Given the description of an element on the screen output the (x, y) to click on. 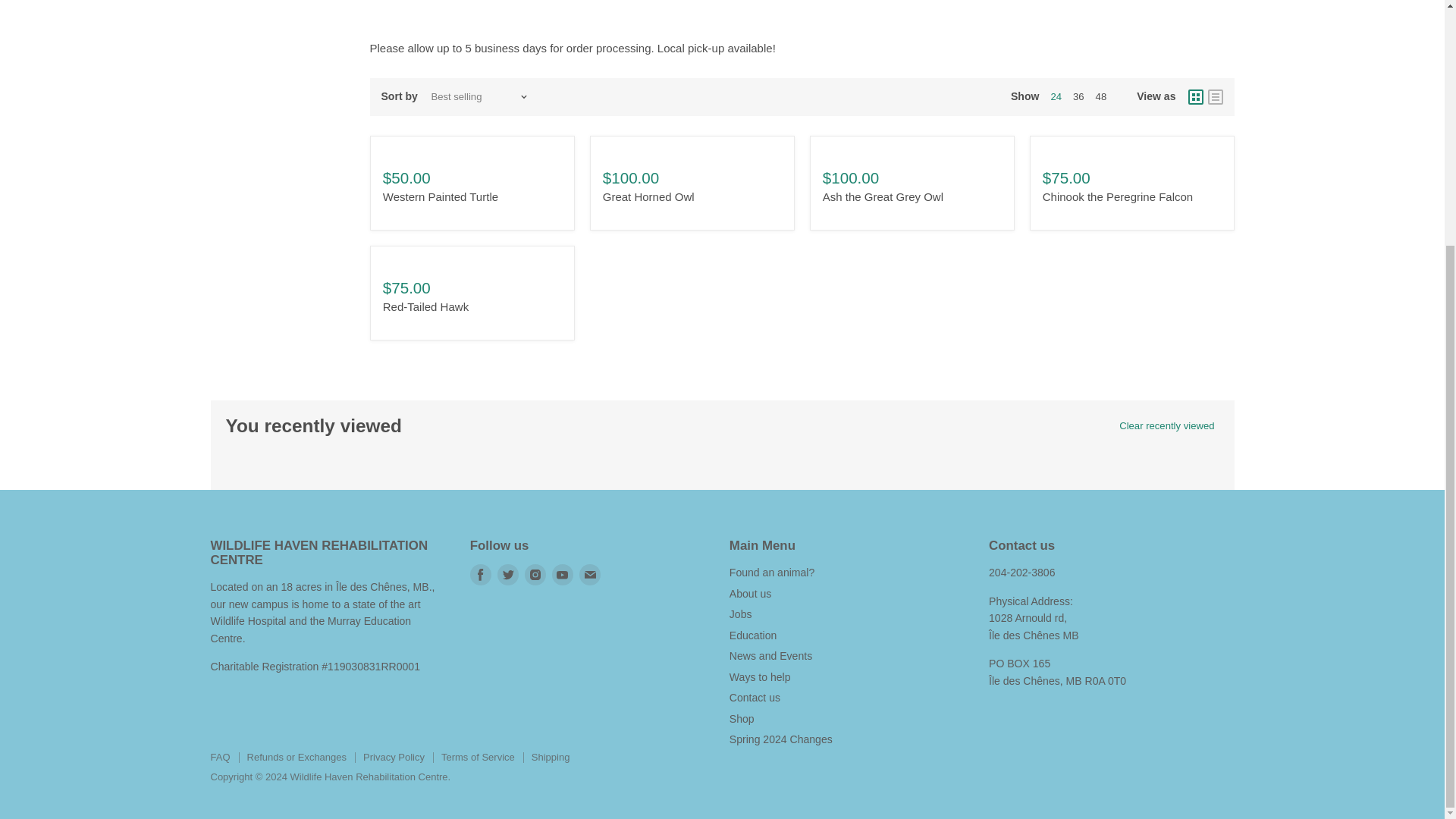
Youtube (562, 574)
Facebook (481, 574)
Twitter (508, 574)
Instagram (534, 574)
E-mail (590, 574)
